Given the description of an element on the screen output the (x, y) to click on. 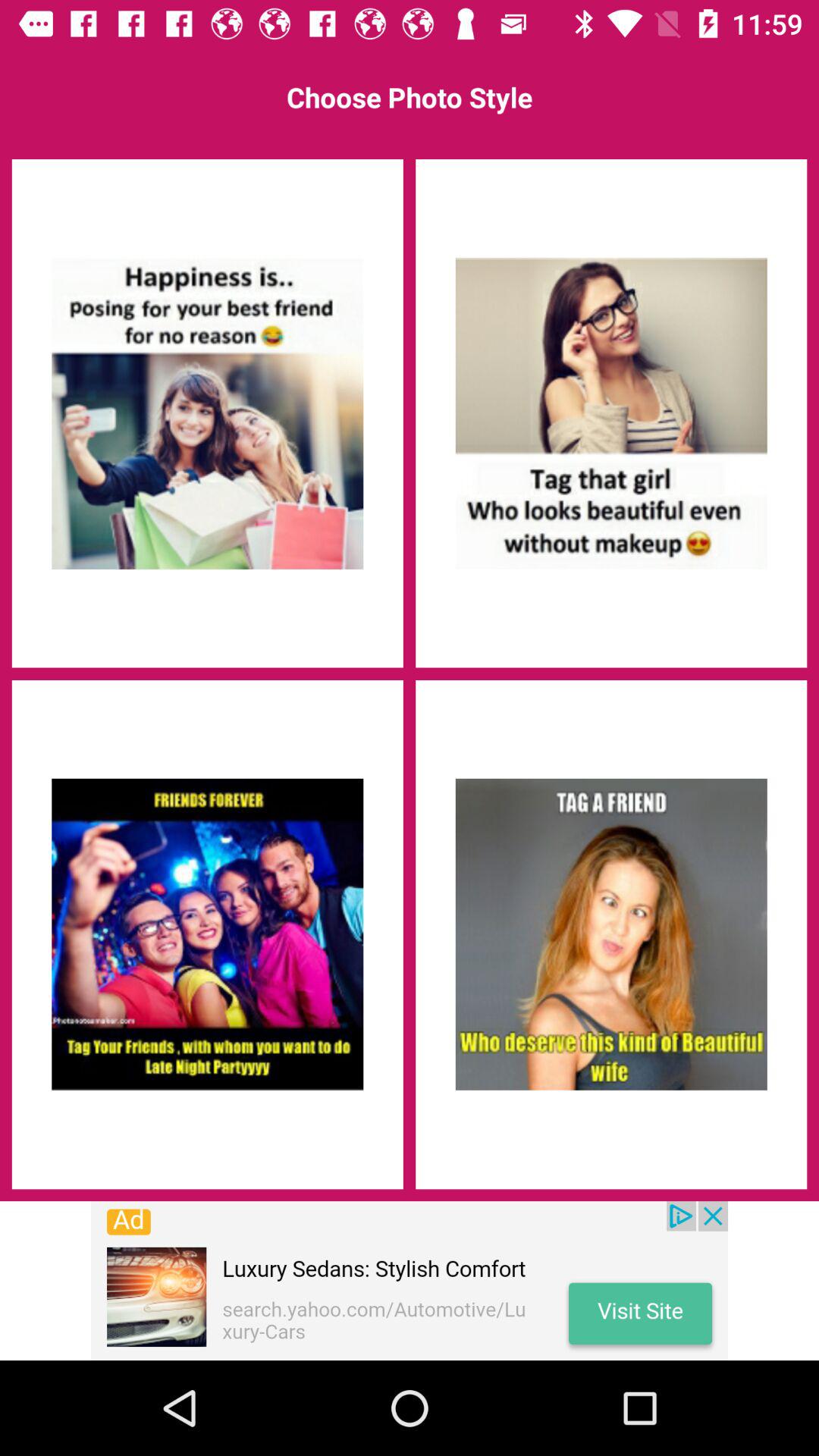
select this style (611, 413)
